Given the description of an element on the screen output the (x, y) to click on. 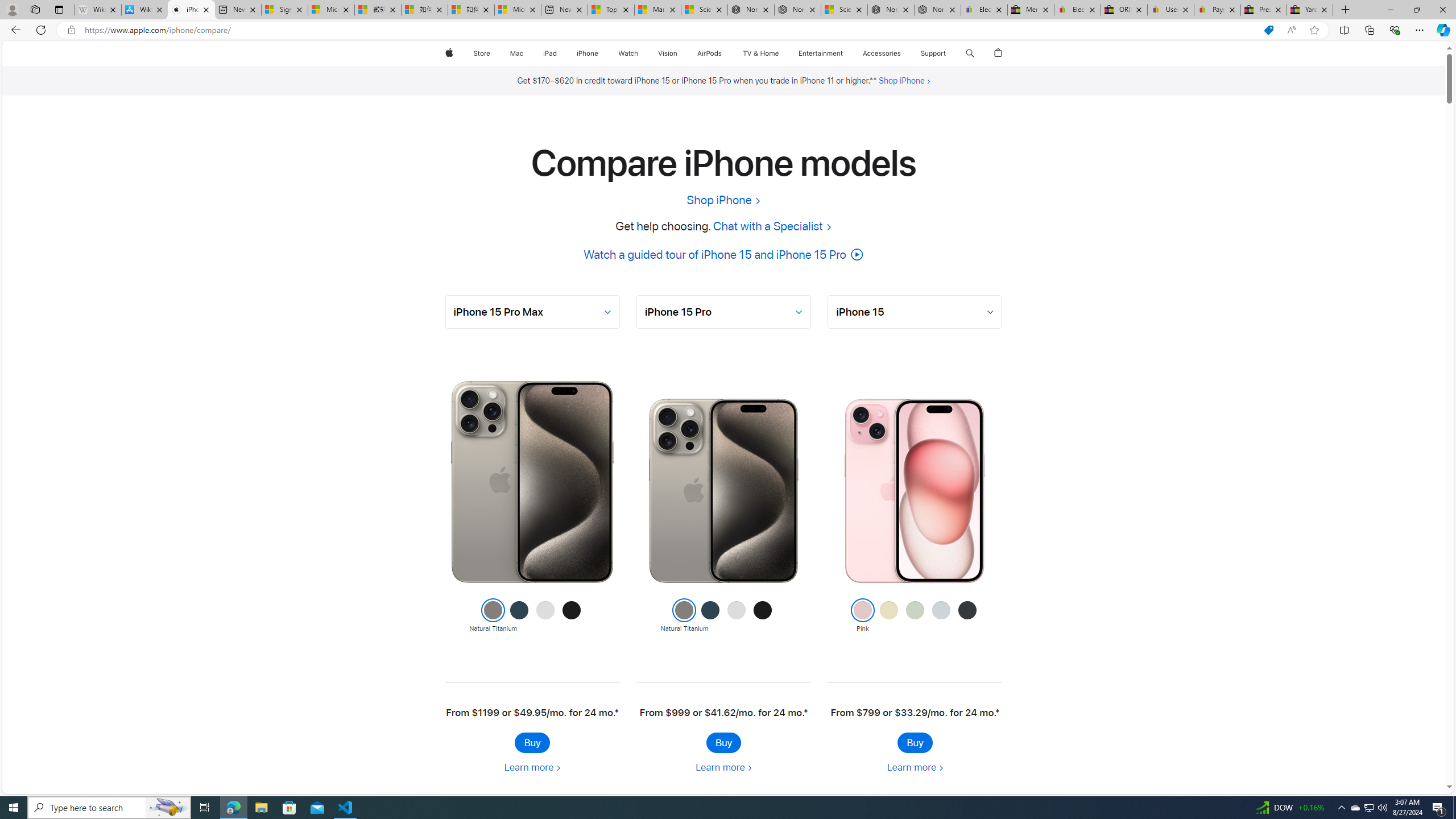
Mac menu (524, 53)
